Given the description of an element on the screen output the (x, y) to click on. 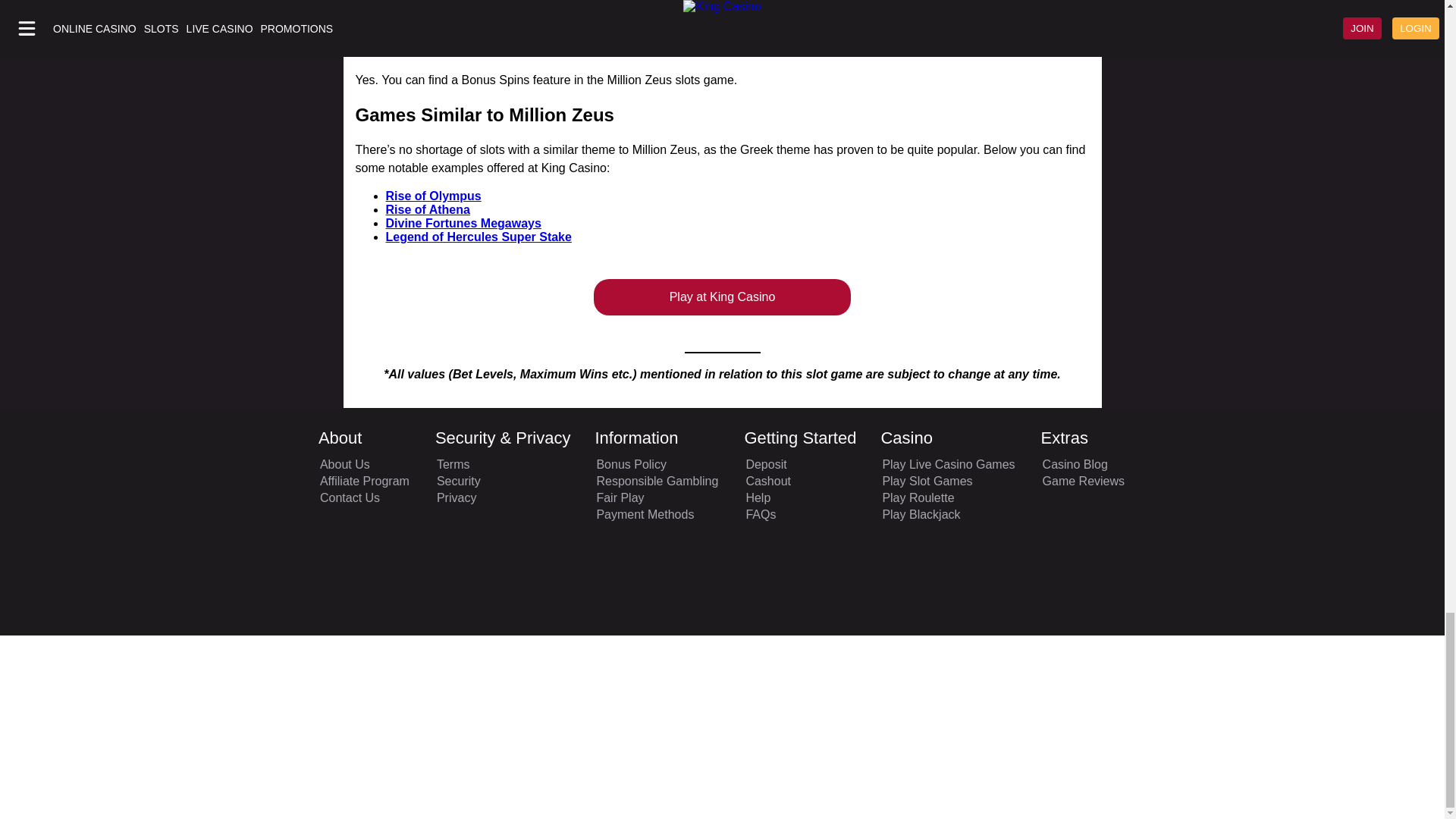
Divine Fortunes Megaways (462, 223)
Legend of Hercules Super Stake (477, 236)
Rise of Athena (426, 209)
Rise of Olympus (432, 195)
